Given the description of an element on the screen output the (x, y) to click on. 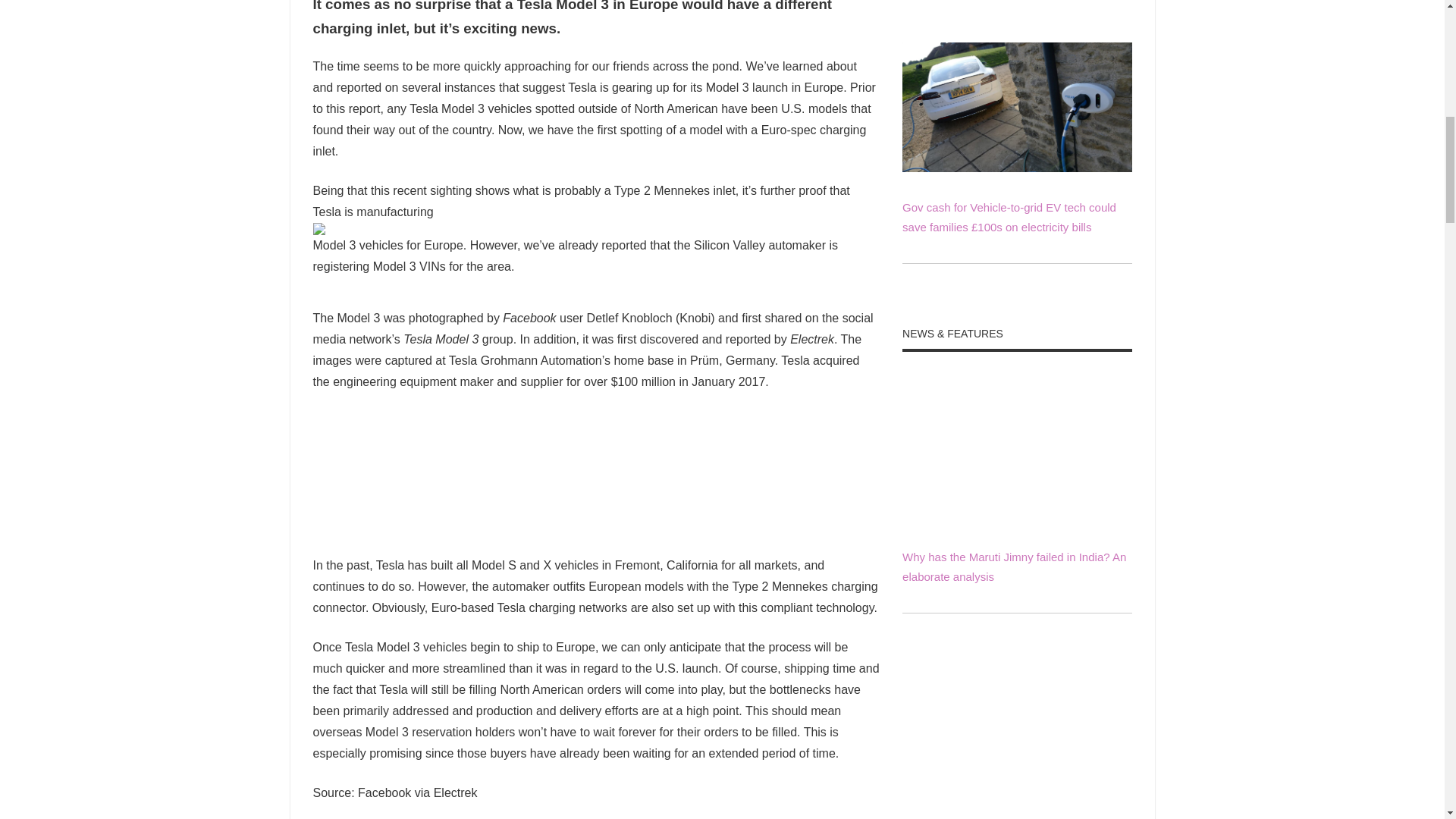
Kia Seltos GT Line Diesel vs Petrol? Scared of DPF and DCT! (1016, 813)
